Given the description of an element on the screen output the (x, y) to click on. 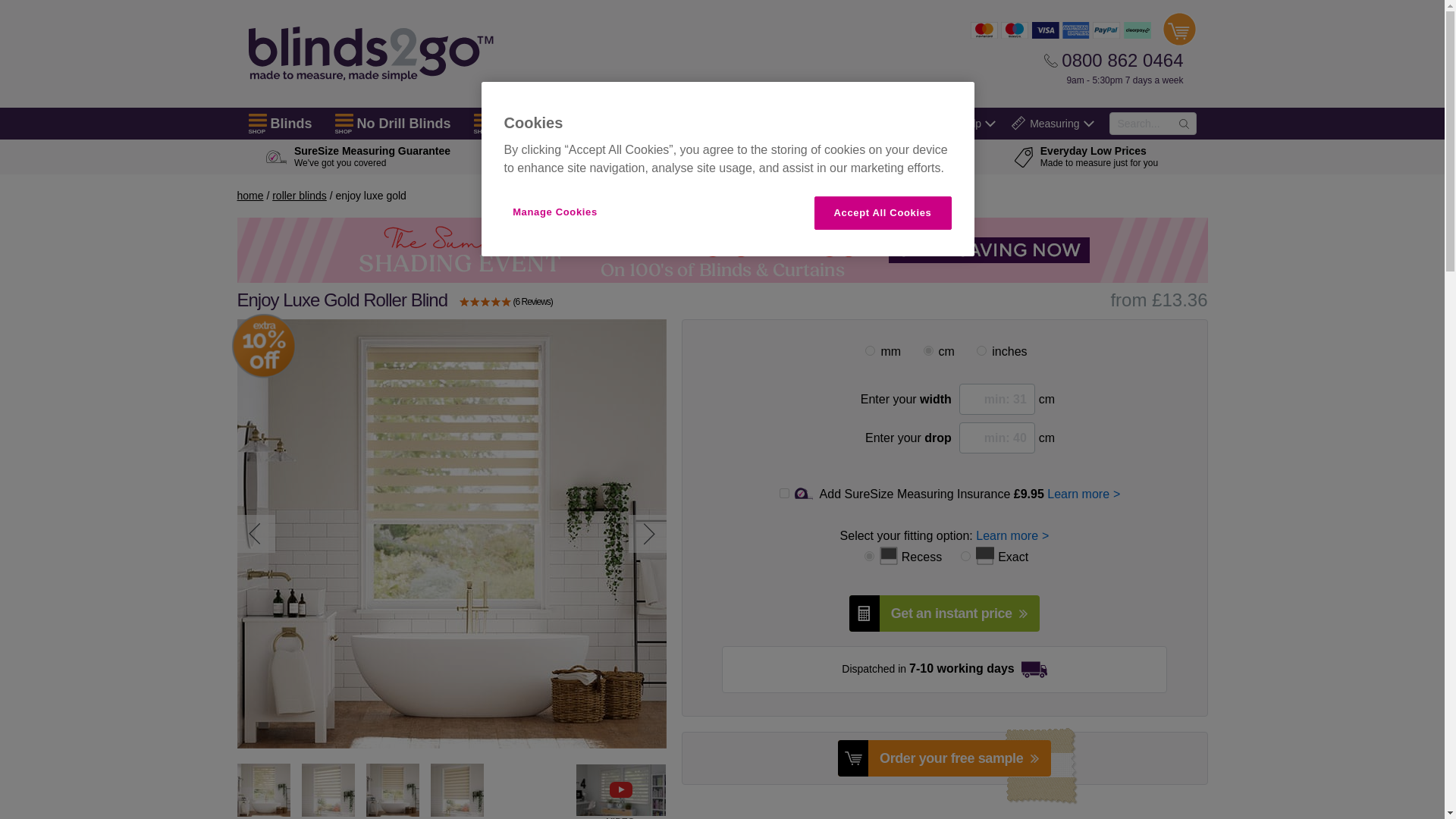
on (783, 492)
burger icon (257, 119)
burger icon (343, 119)
3 (928, 350)
0800 862 0464 (1112, 60)
2 (981, 350)
white down arrow icon (990, 122)
burger icon (483, 119)
1 (869, 350)
R (869, 556)
